Given the description of an element on the screen output the (x, y) to click on. 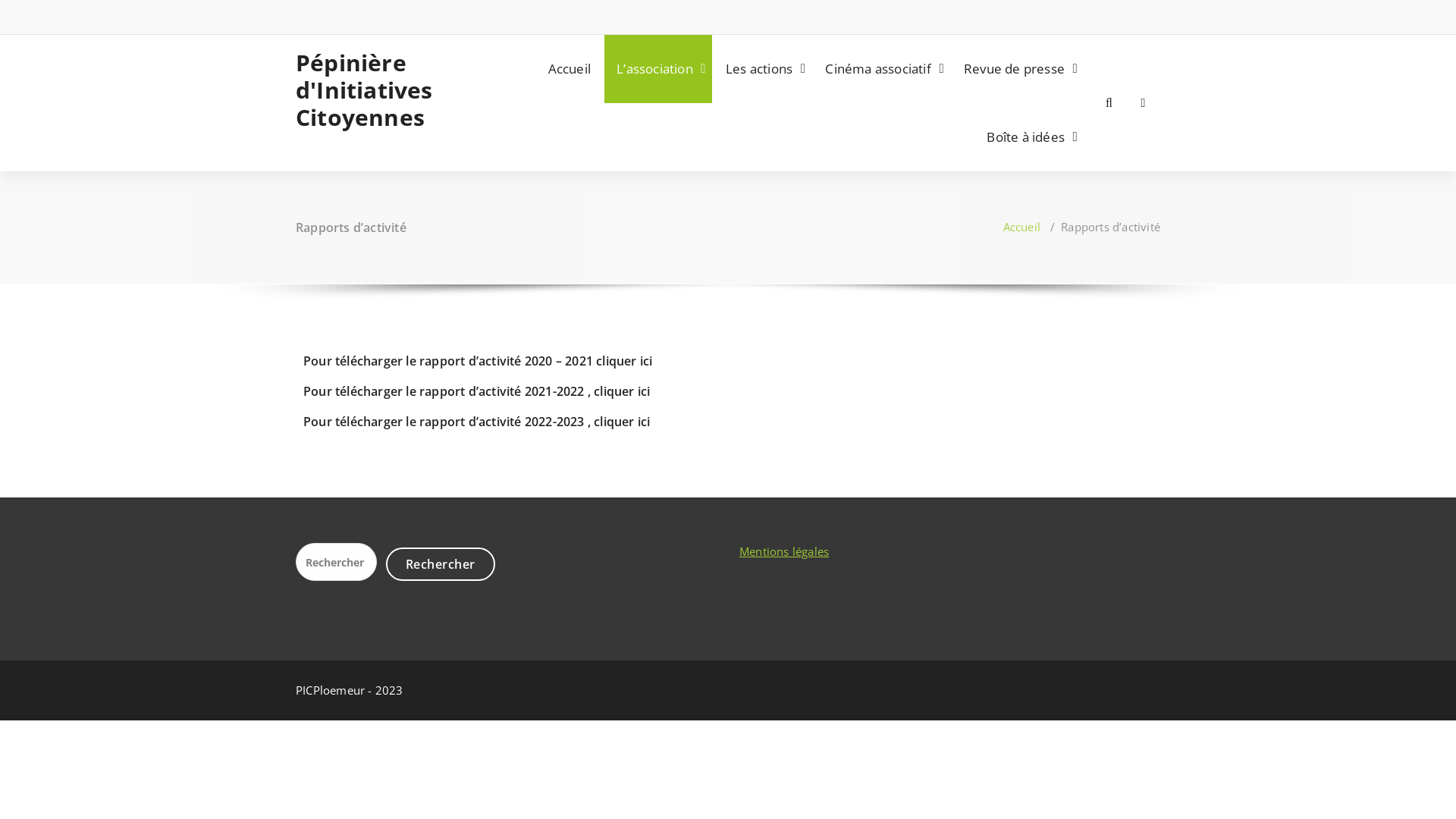
Les actions Element type: text (762, 68)
Rechercher Element type: text (439, 563)
Accueil Element type: text (1021, 226)
Accueil Element type: text (569, 68)
Revue de presse Element type: text (1017, 68)
